Given the description of an element on the screen output the (x, y) to click on. 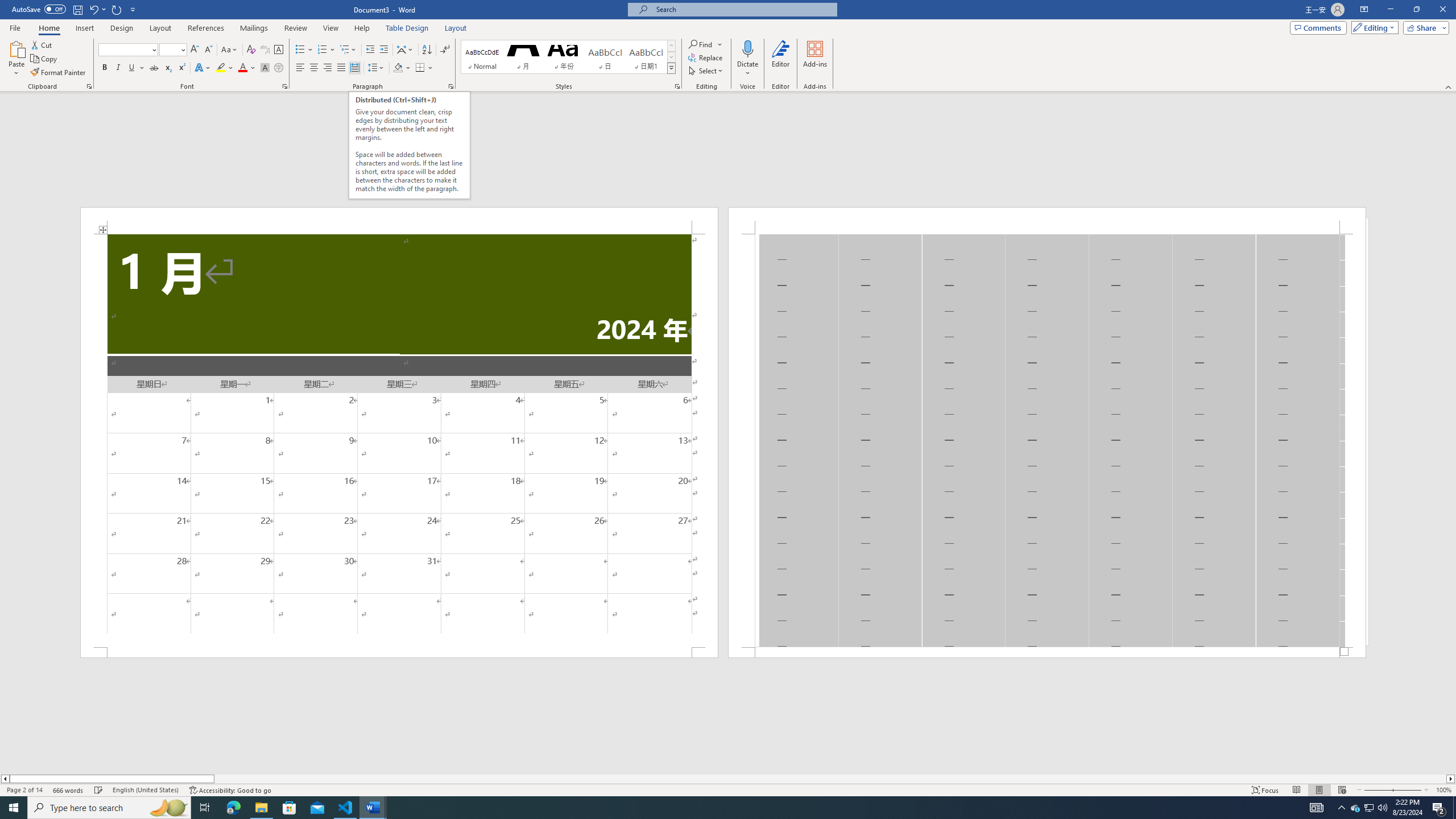
Select (705, 69)
Replace... (705, 56)
Column left (5, 778)
